Given the description of an element on the screen output the (x, y) to click on. 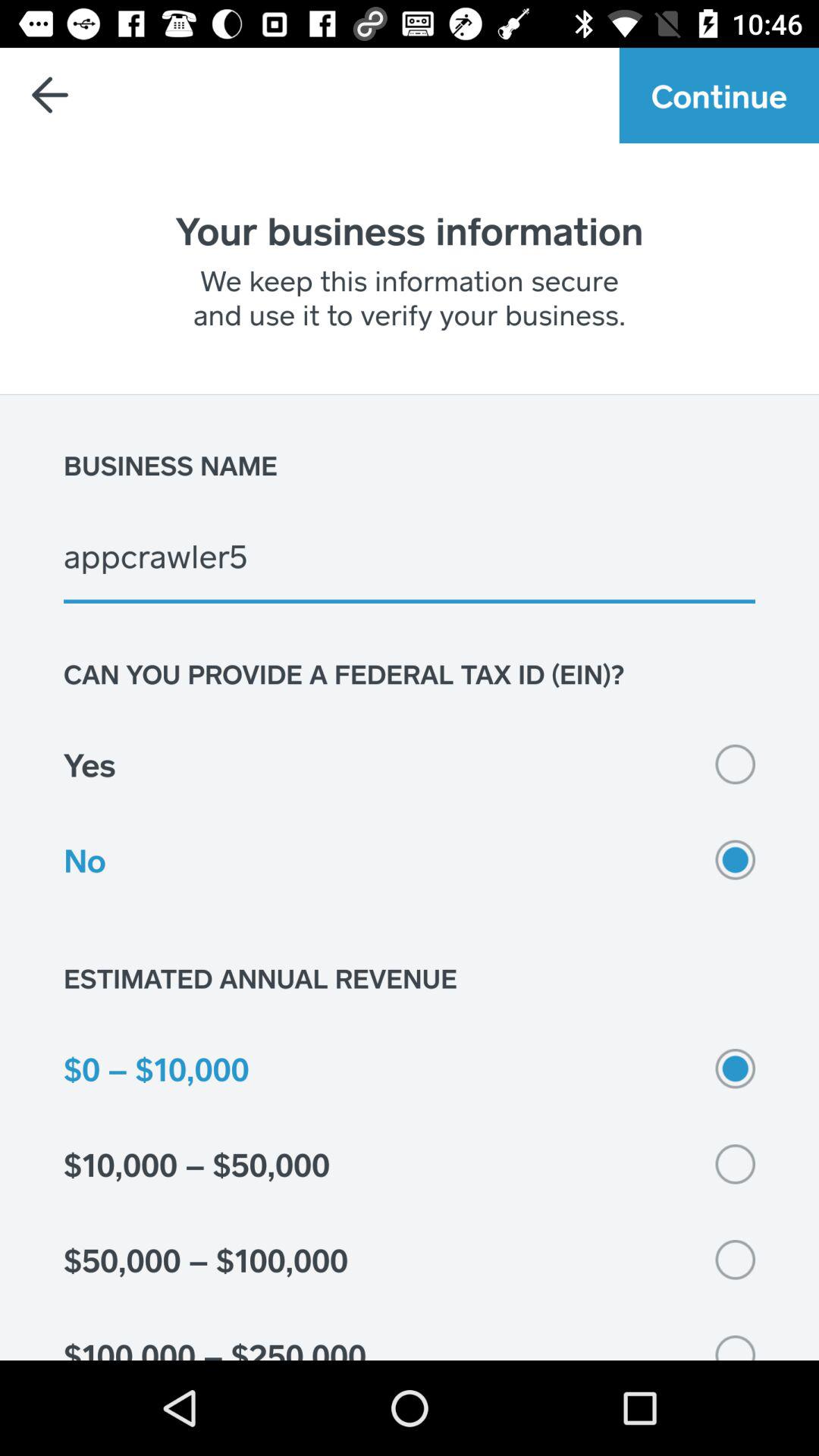
turn on item below the can you provide (409, 764)
